Given the description of an element on the screen output the (x, y) to click on. 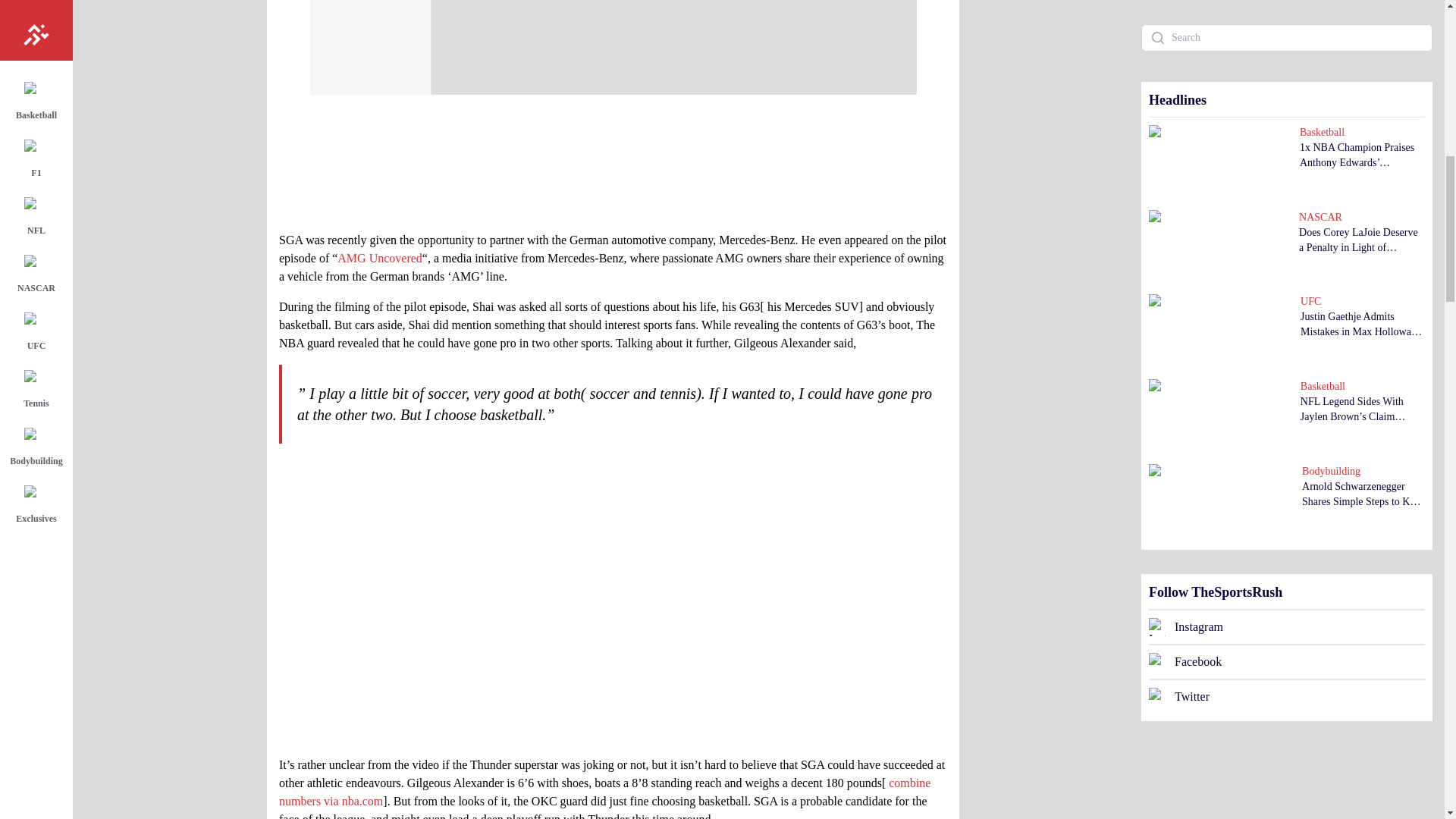
combine numbers via nba.com (604, 791)
AMG Uncovered (379, 257)
